Given the description of an element on the screen output the (x, y) to click on. 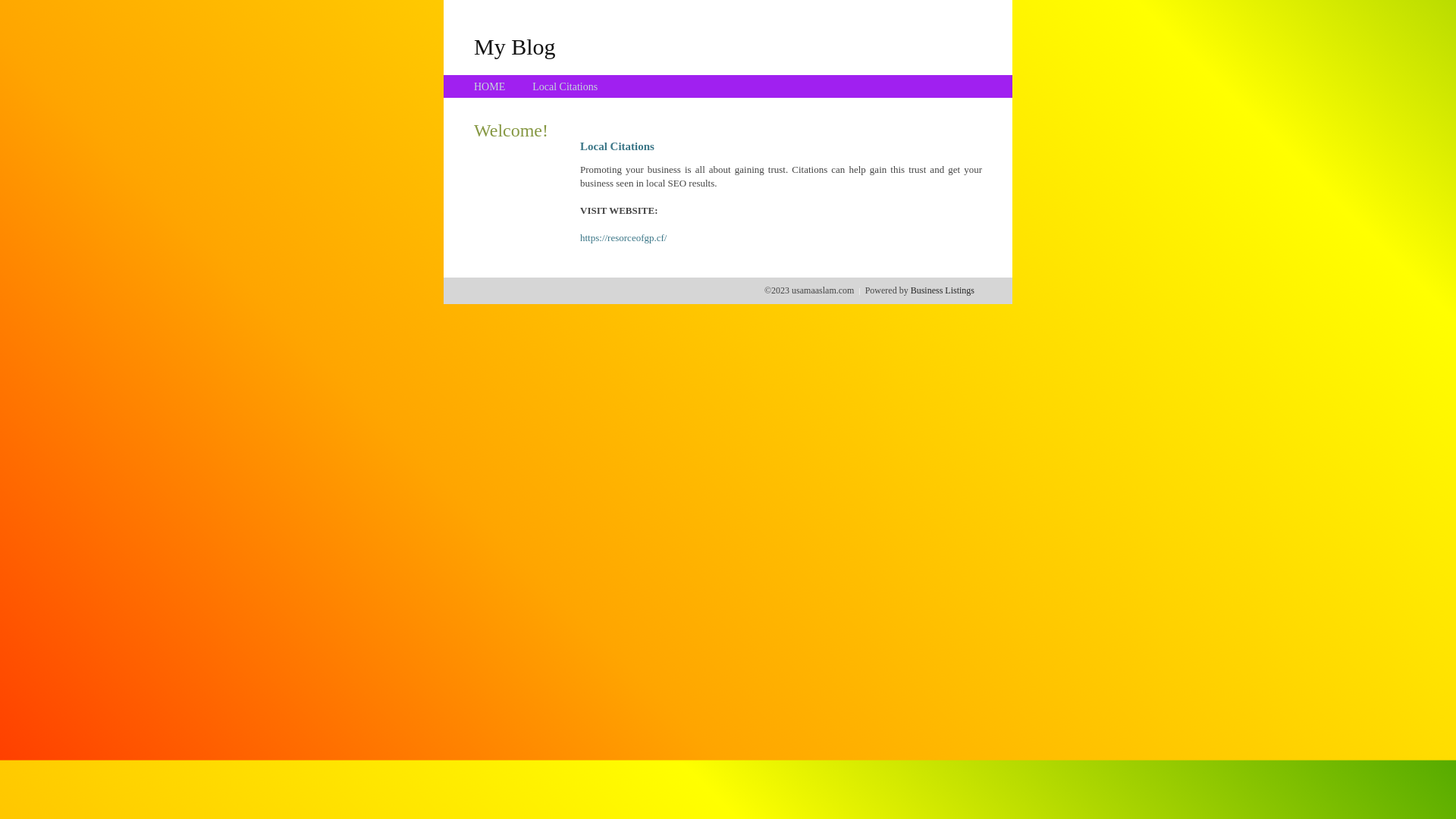
Business Listings Element type: text (942, 290)
https://resorceofgp.cf/ Element type: text (623, 237)
My Blog Element type: text (514, 46)
Local Citations Element type: text (564, 86)
HOME Element type: text (489, 86)
